Given the description of an element on the screen output the (x, y) to click on. 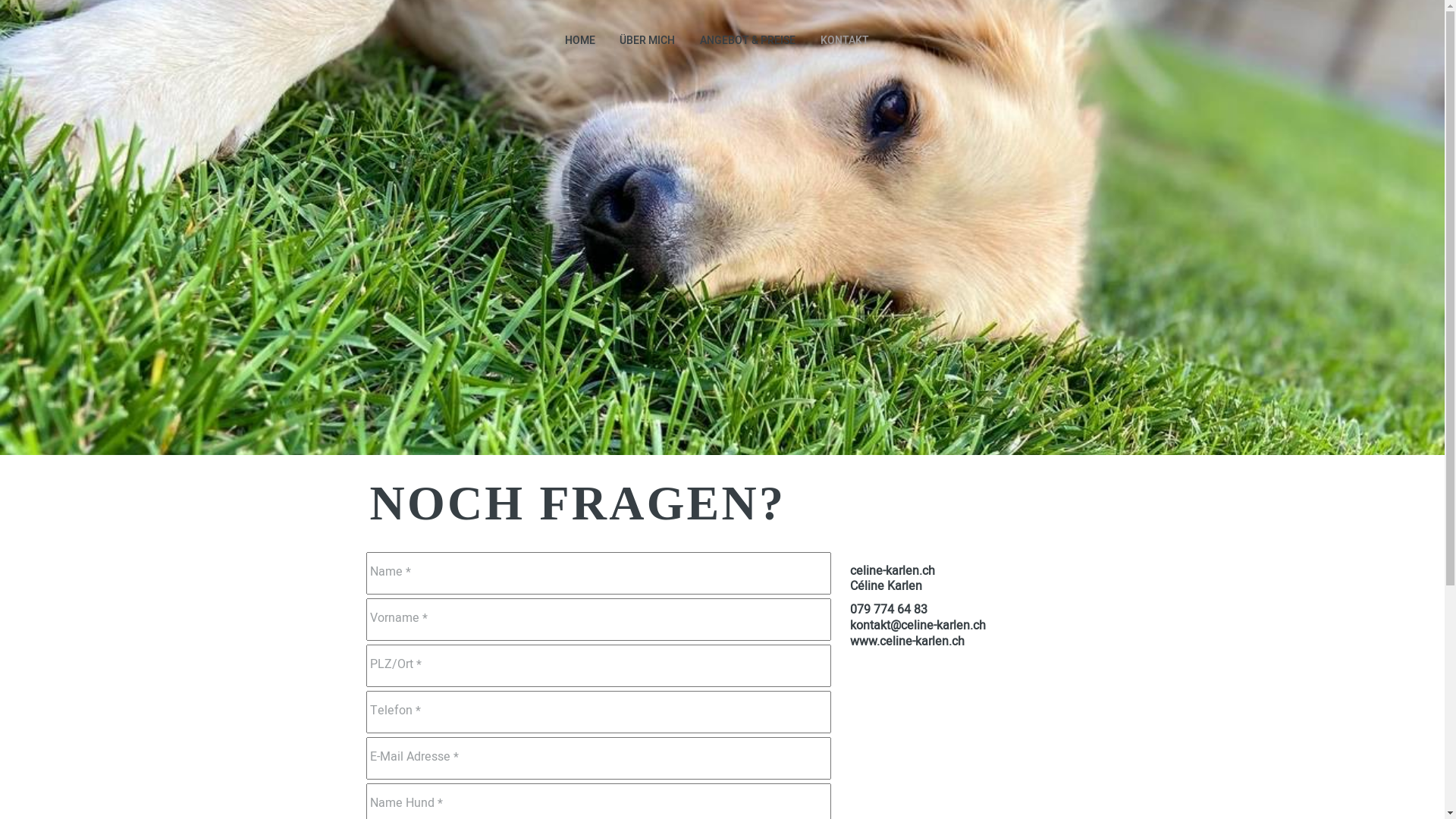
KONTAKT Element type: text (844, 41)
HOME Element type: text (579, 41)
ANGEBOT & PREISE Element type: text (747, 41)
